Given the description of an element on the screen output the (x, y) to click on. 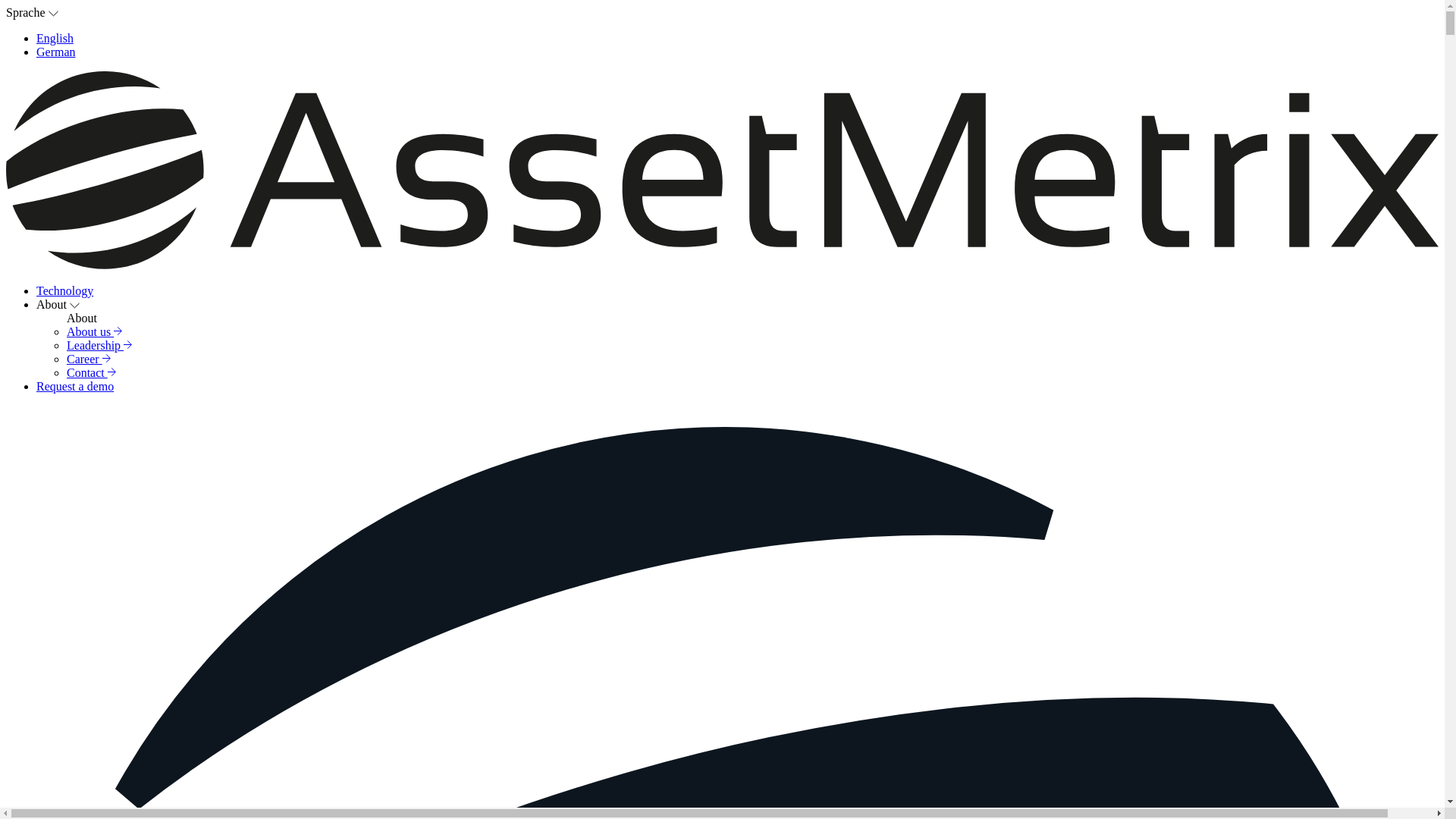
German (55, 51)
Leadership (99, 345)
English (55, 38)
About us (94, 331)
Contact (91, 372)
Technology (64, 290)
Request a demo (74, 386)
About (58, 304)
Career (88, 358)
